Given the description of an element on the screen output the (x, y) to click on. 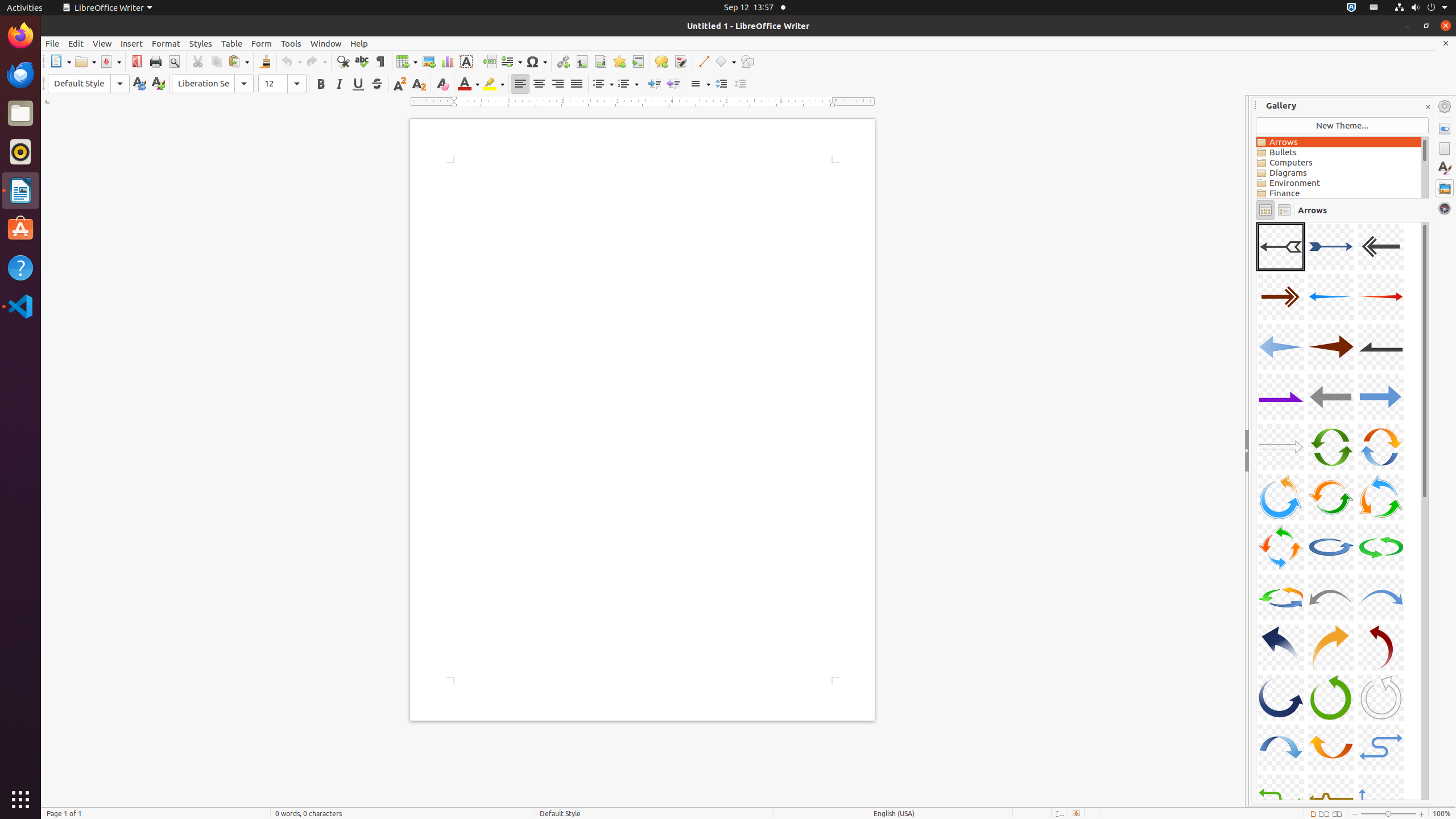
A06-Arrow-Red-Right Element type: list-item (1380, 296)
A13-Arrow-Gray-Right Element type: list-item (1280, 446)
A21-CircleArrow-Green Element type: list-item (1380, 546)
Page Break Element type: push-button (489, 61)
A27-CurvedArrow-DarkRed Element type: list-item (1380, 646)
